Given the description of an element on the screen output the (x, y) to click on. 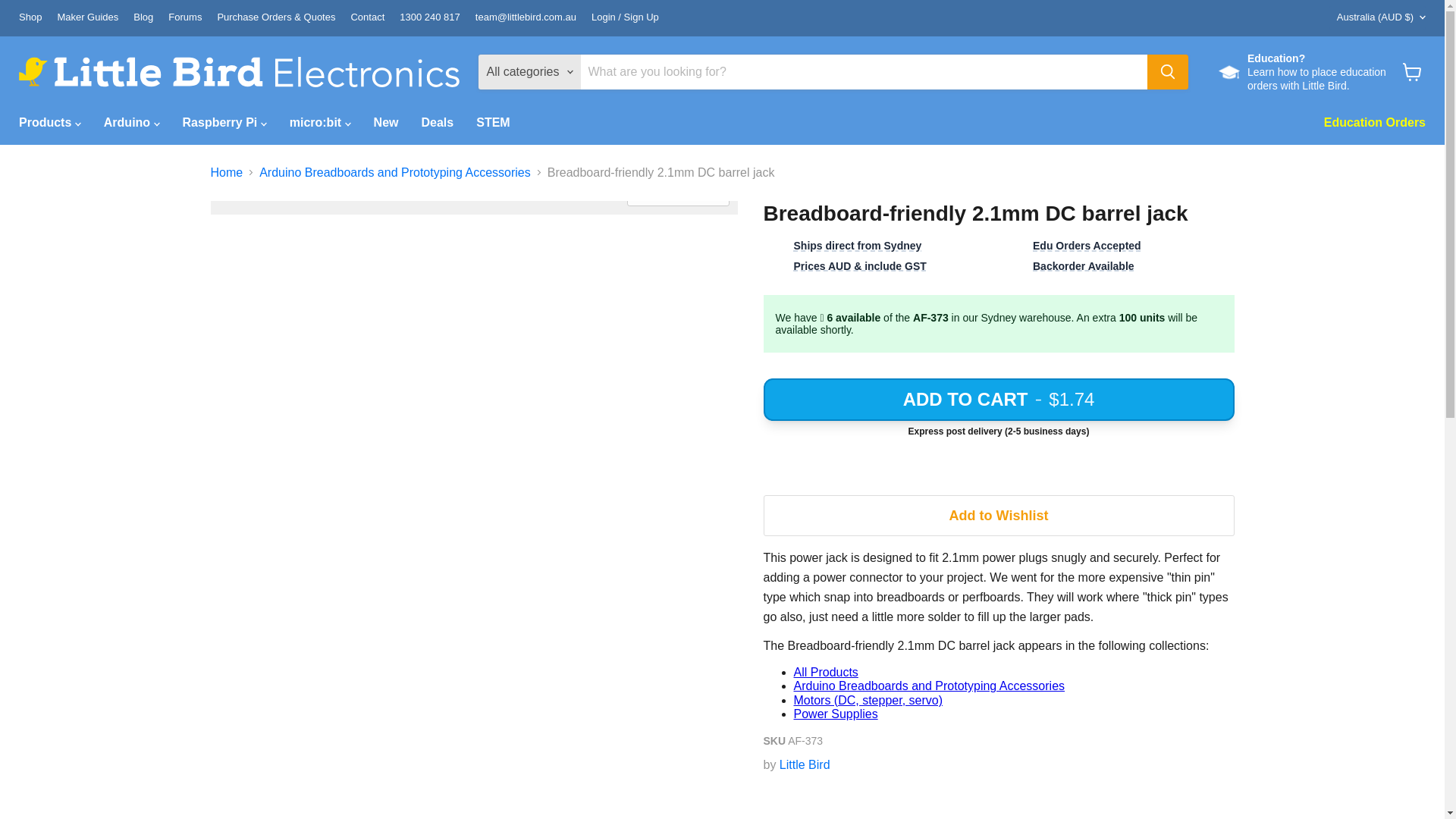
Shop (30, 17)
Buy All Products in Australia (825, 671)
1300 240 817 (429, 17)
Little Bird (803, 764)
Forums (185, 17)
Buy Power Supplies in Australia (835, 713)
Blog (142, 17)
Maker Guides (86, 17)
